Given the description of an element on the screen output the (x, y) to click on. 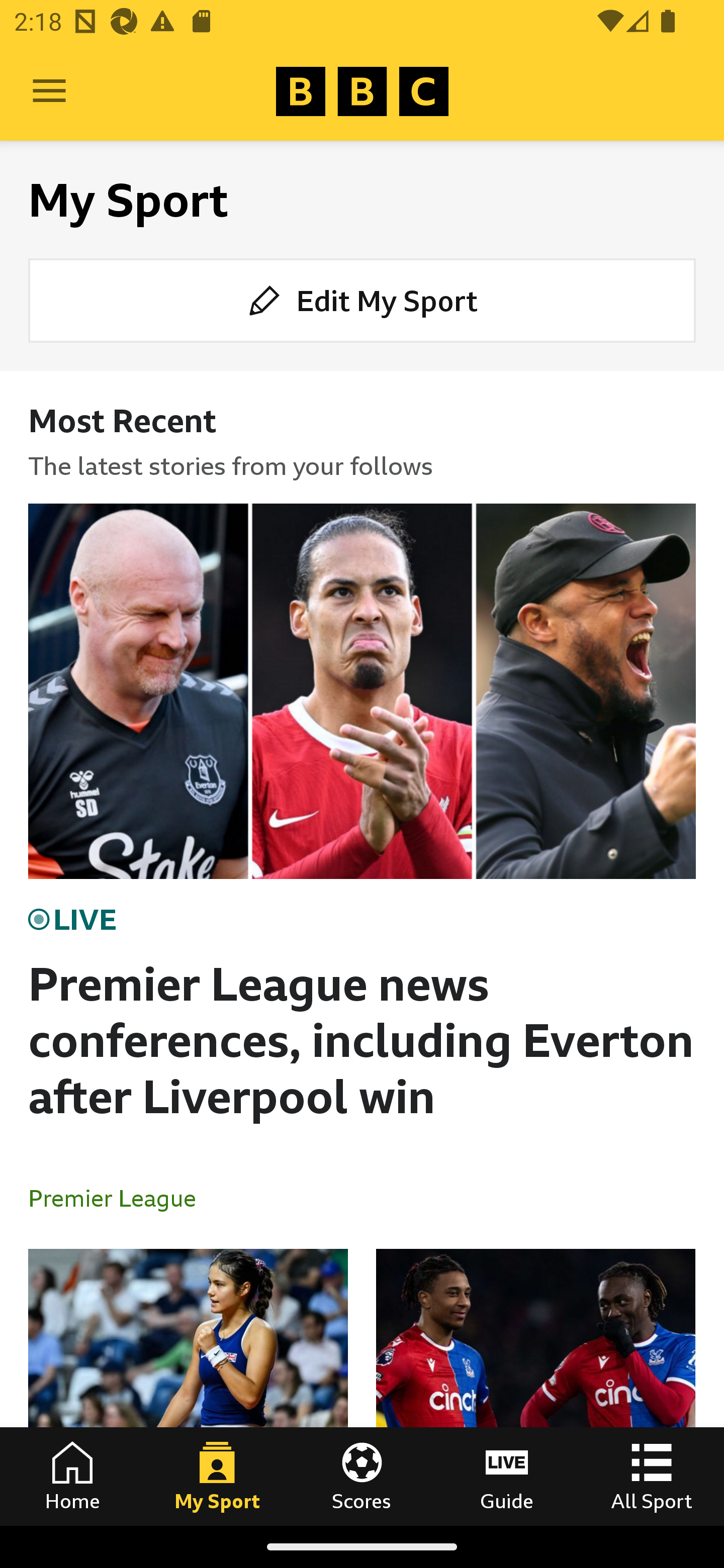
Open Menu (49, 91)
Edit My Sport (361, 300)
Premier League In the section Premier League (119, 1197)
BJK Cup Finals revamped with knockout format (188, 1386)
Home (72, 1475)
Scores (361, 1475)
Guide (506, 1475)
All Sport (651, 1475)
